Given the description of an element on the screen output the (x, y) to click on. 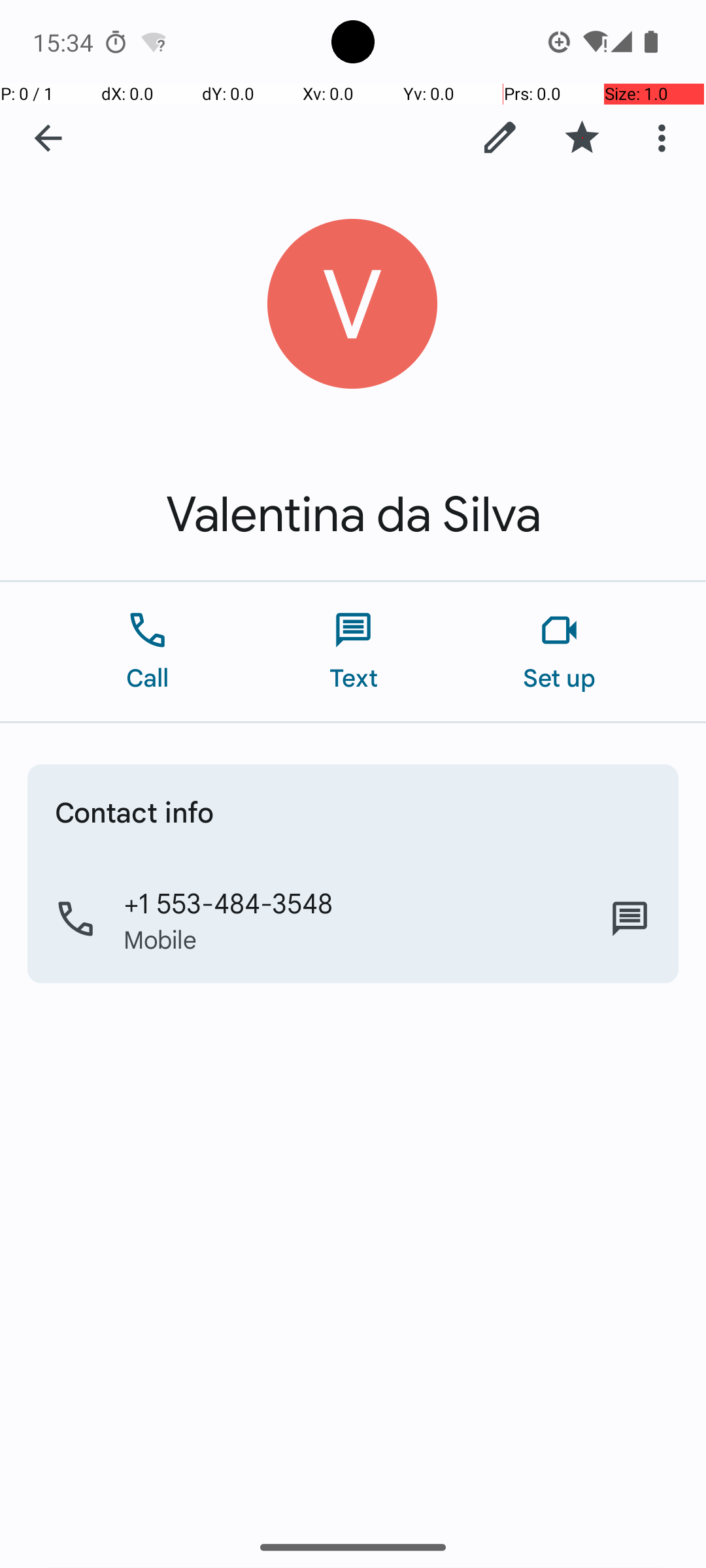
Valentina da Silva Element type: android.widget.TextView (352, 514)
Call Mobile +1 553-484-3548 Element type: android.widget.RelativeLayout (352, 919)
+1 553-484-3548 Element type: android.widget.TextView (228, 901)
Text Mobile +1 553-484-3548 Element type: android.widget.Button (629, 919)
